Given the description of an element on the screen output the (x, y) to click on. 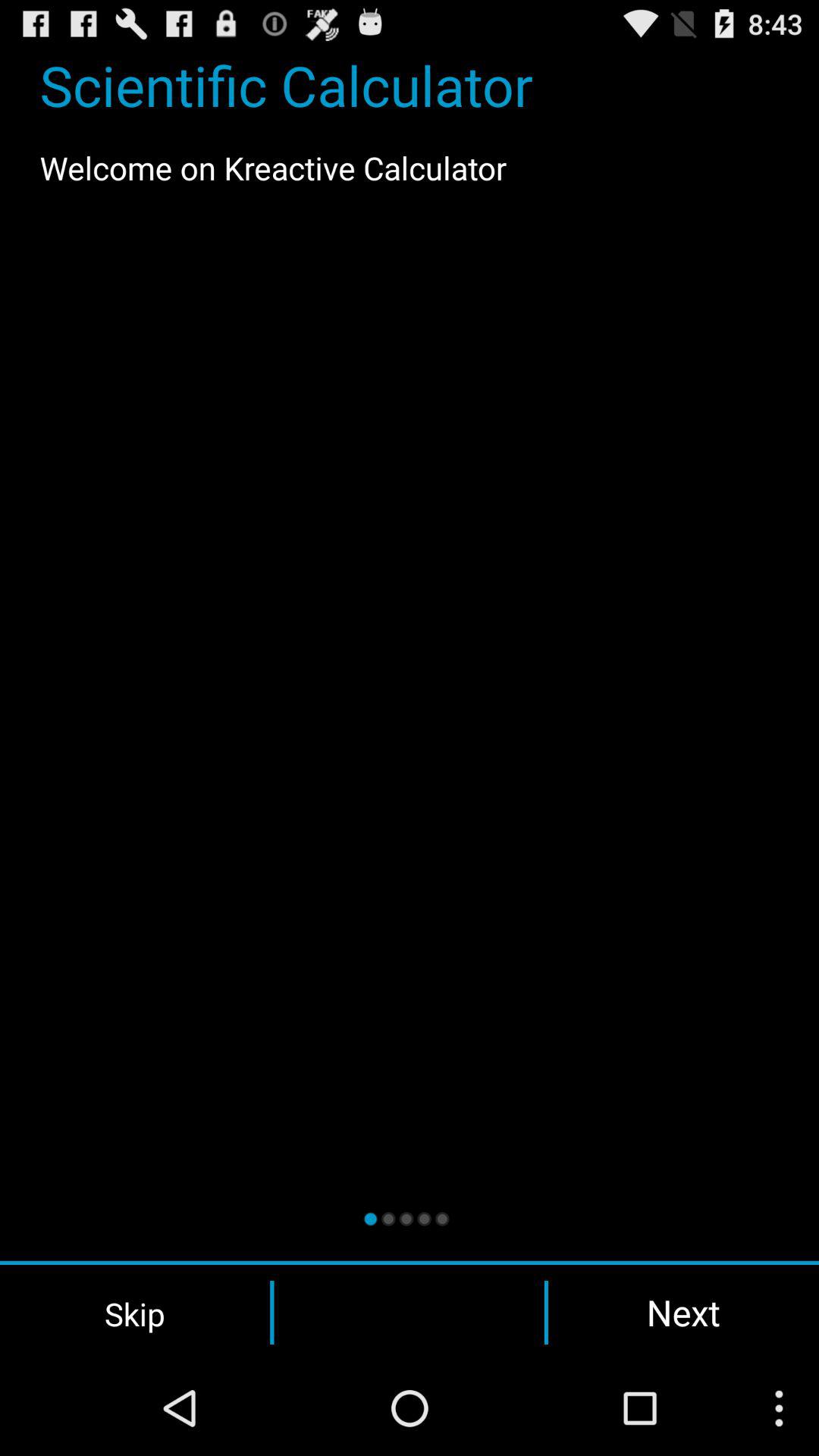
press next icon (683, 1312)
